Given the description of an element on the screen output the (x, y) to click on. 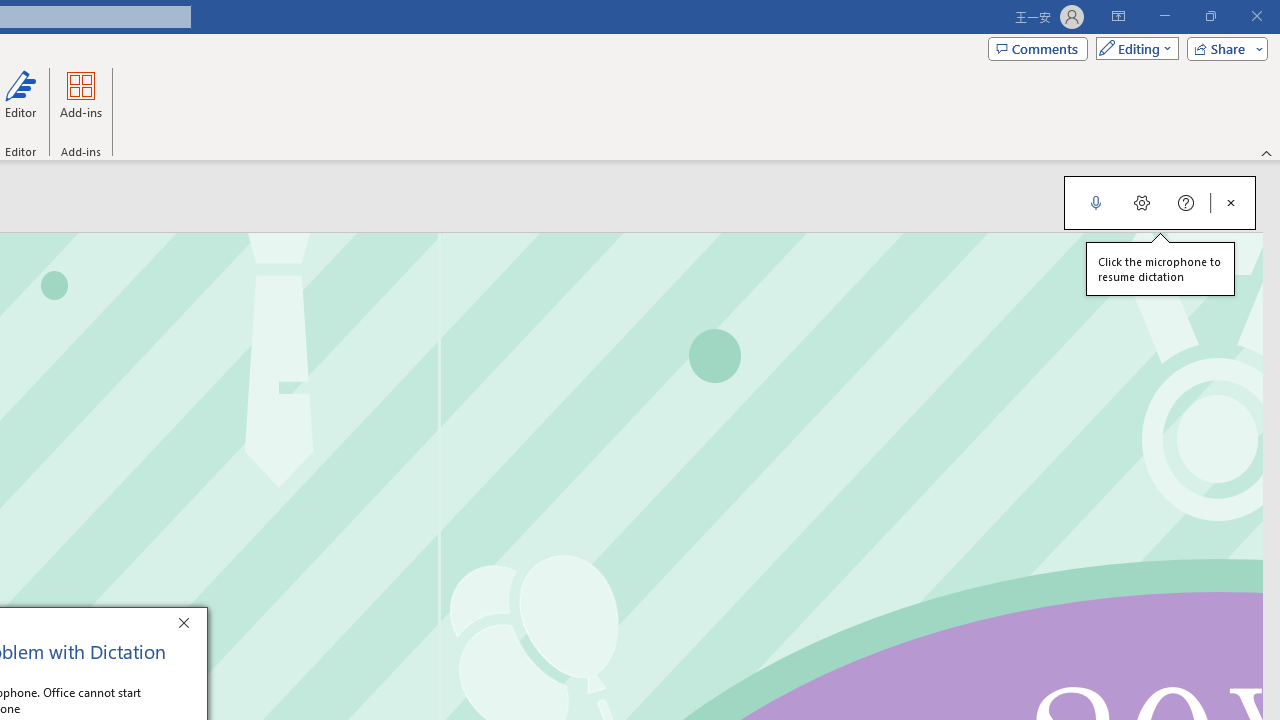
Dictation Settings (1142, 202)
Start Dictation (1096, 202)
